Given the description of an element on the screen output the (x, y) to click on. 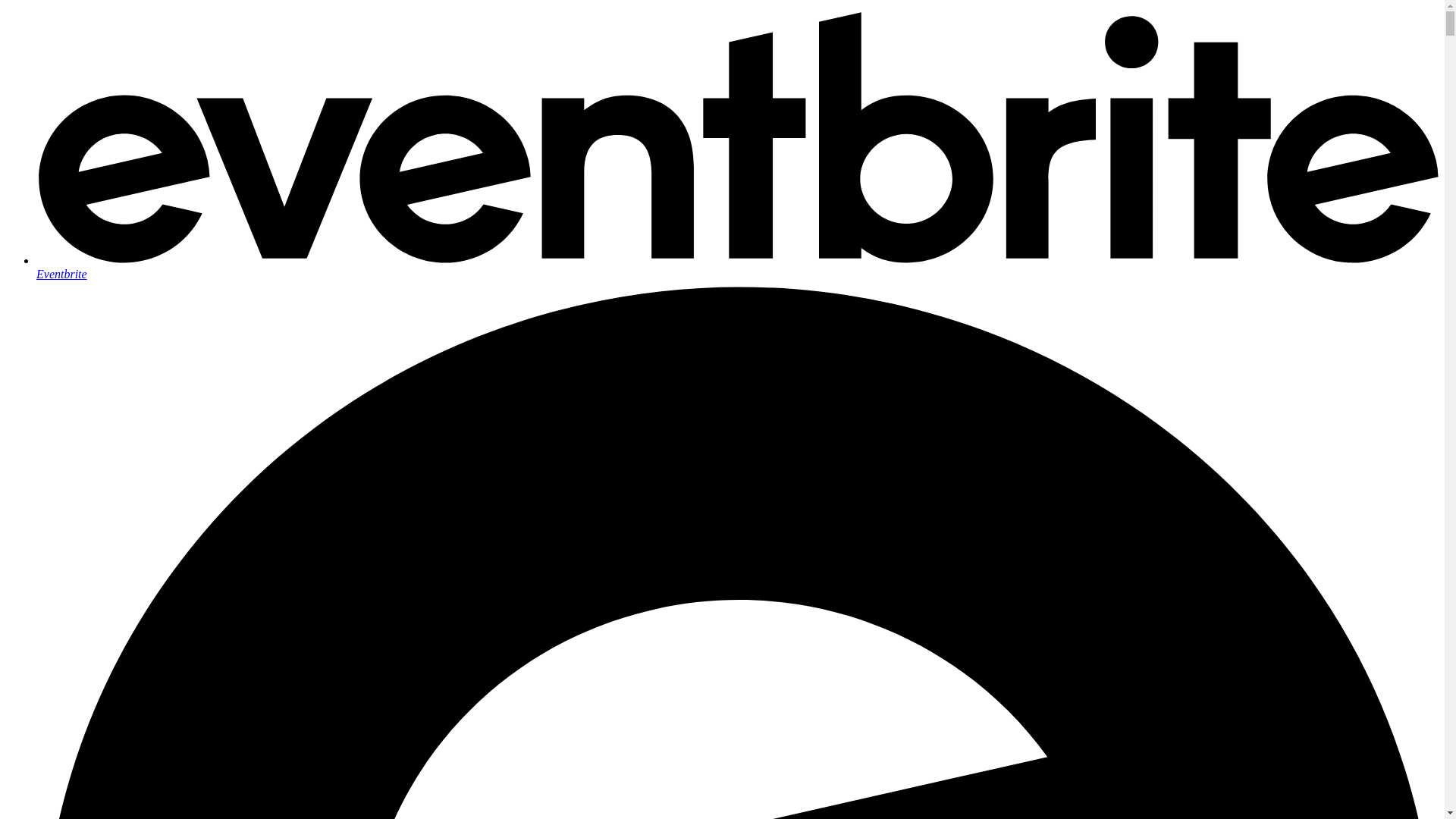
Eventbrite Element type: text (737, 267)
